Given the description of an element on the screen output the (x, y) to click on. 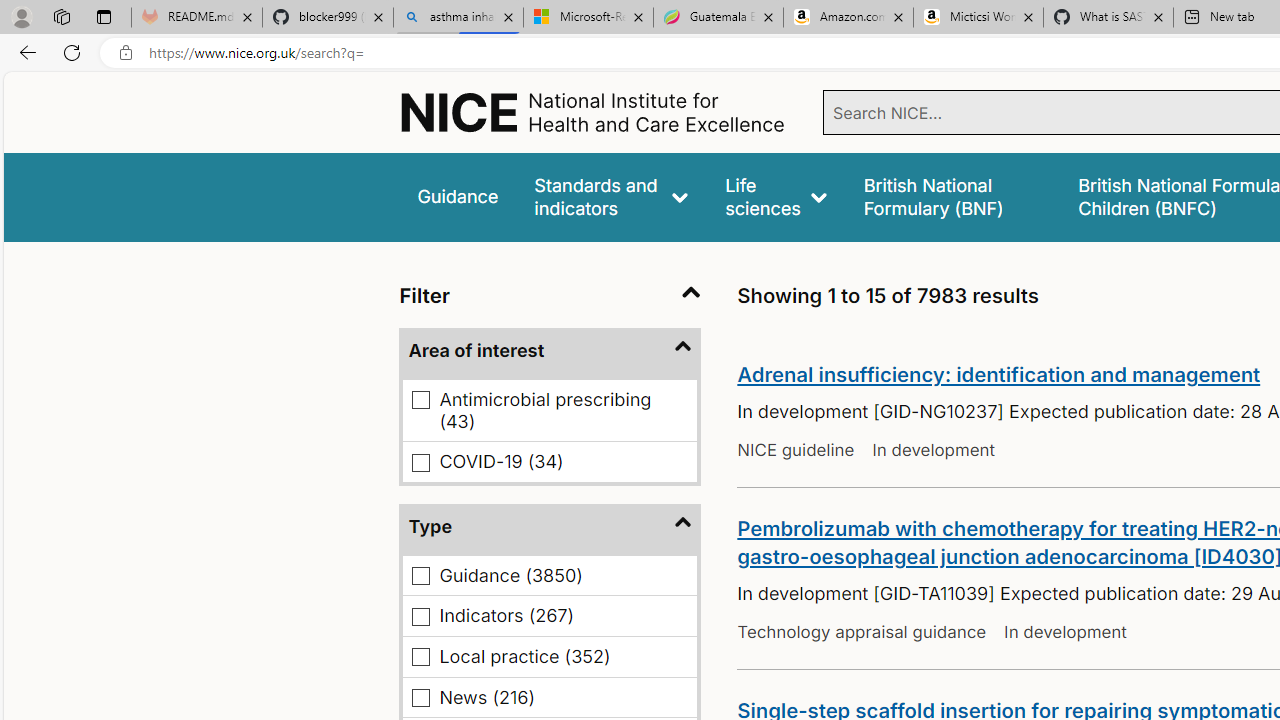
asthma inhaler - Search (458, 17)
Filter (550, 296)
Guidance (3850) (421, 574)
Life sciences (776, 196)
Antimicrobial prescribing (43) (421, 399)
COVID-19 (34) (421, 462)
Guidance (458, 196)
false (952, 196)
